Given the description of an element on the screen output the (x, y) to click on. 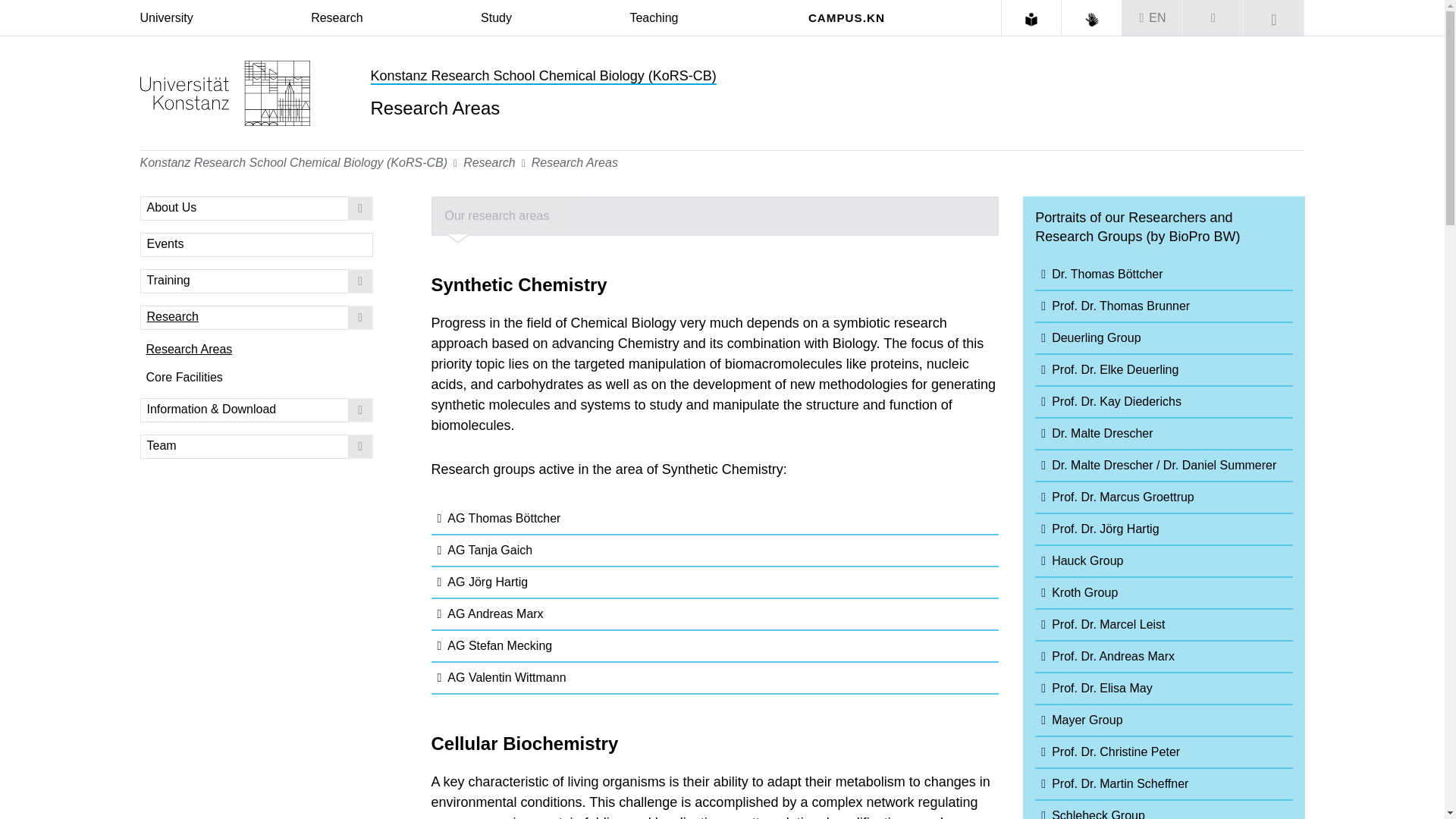
Teaching (653, 18)
Simple Language (1031, 19)
English (1157, 17)
Sprache wechseln (1152, 18)
Sign Language (1091, 19)
Toggle Searchoverlay (1273, 18)
Login (1212, 18)
Research (336, 18)
University (165, 18)
